Given the description of an element on the screen output the (x, y) to click on. 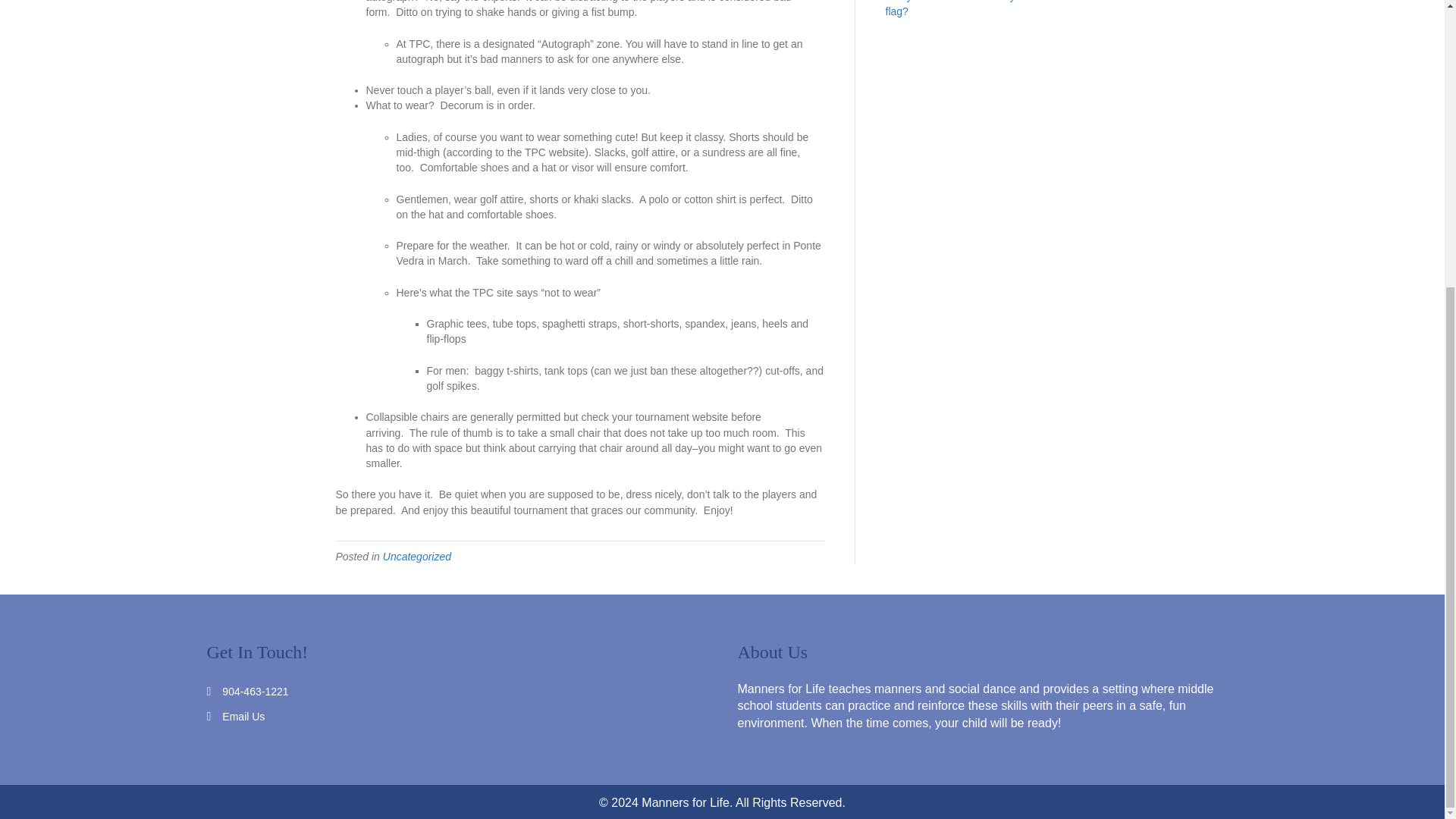
Email Us (243, 716)
Uncategorized (416, 556)
904-463-1221 (255, 691)
Betsy Ross. What else do you know about our flag? (993, 8)
